Given the description of an element on the screen output the (x, y) to click on. 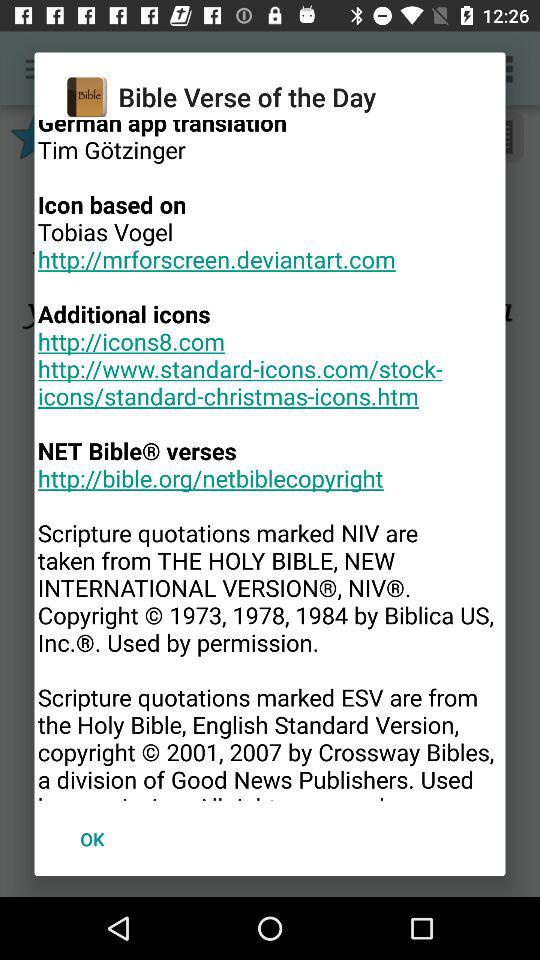
turn off the ok item (92, 838)
